Given the description of an element on the screen output the (x, y) to click on. 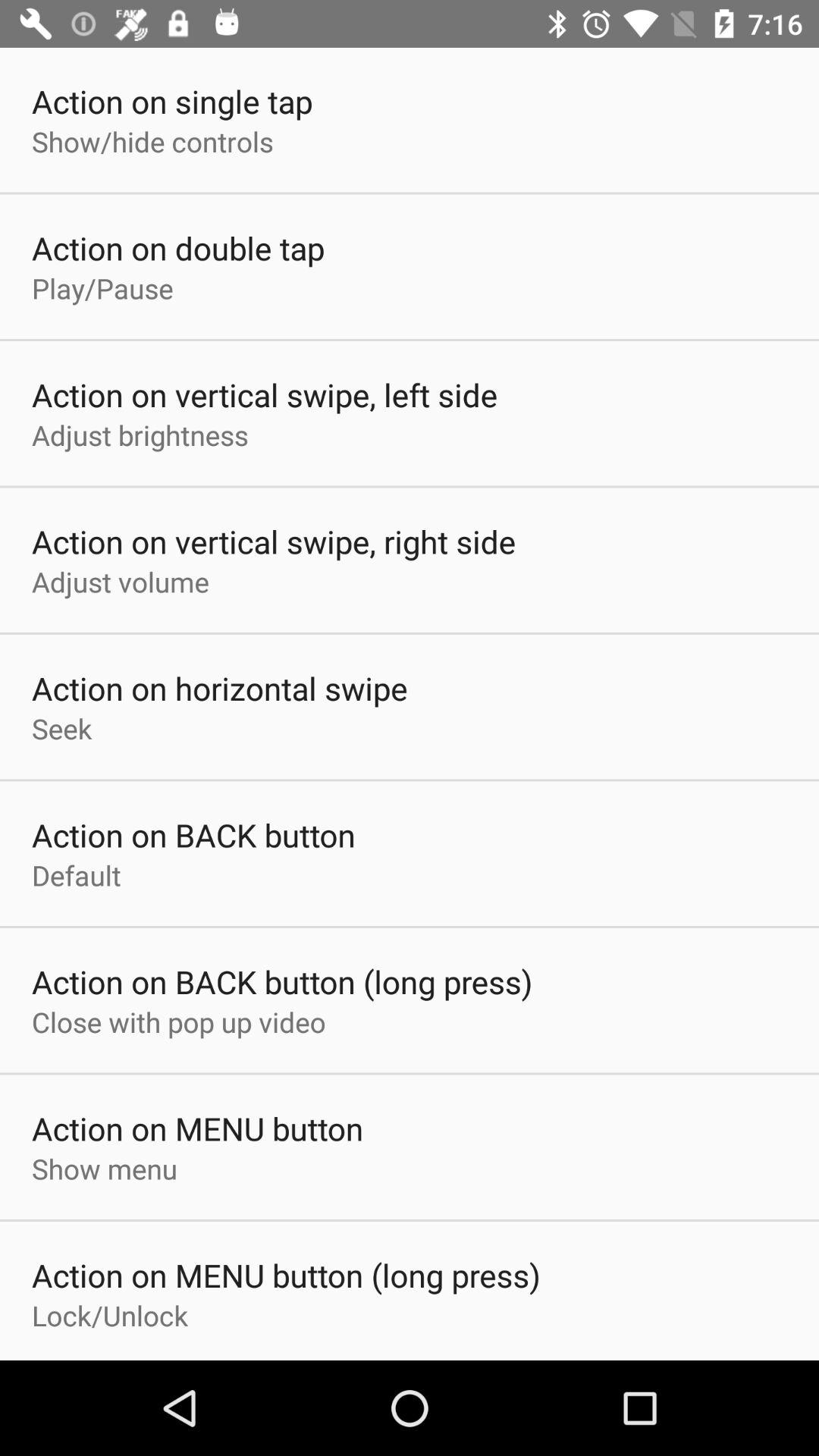
select app below action on vertical app (120, 581)
